Given the description of an element on the screen output the (x, y) to click on. 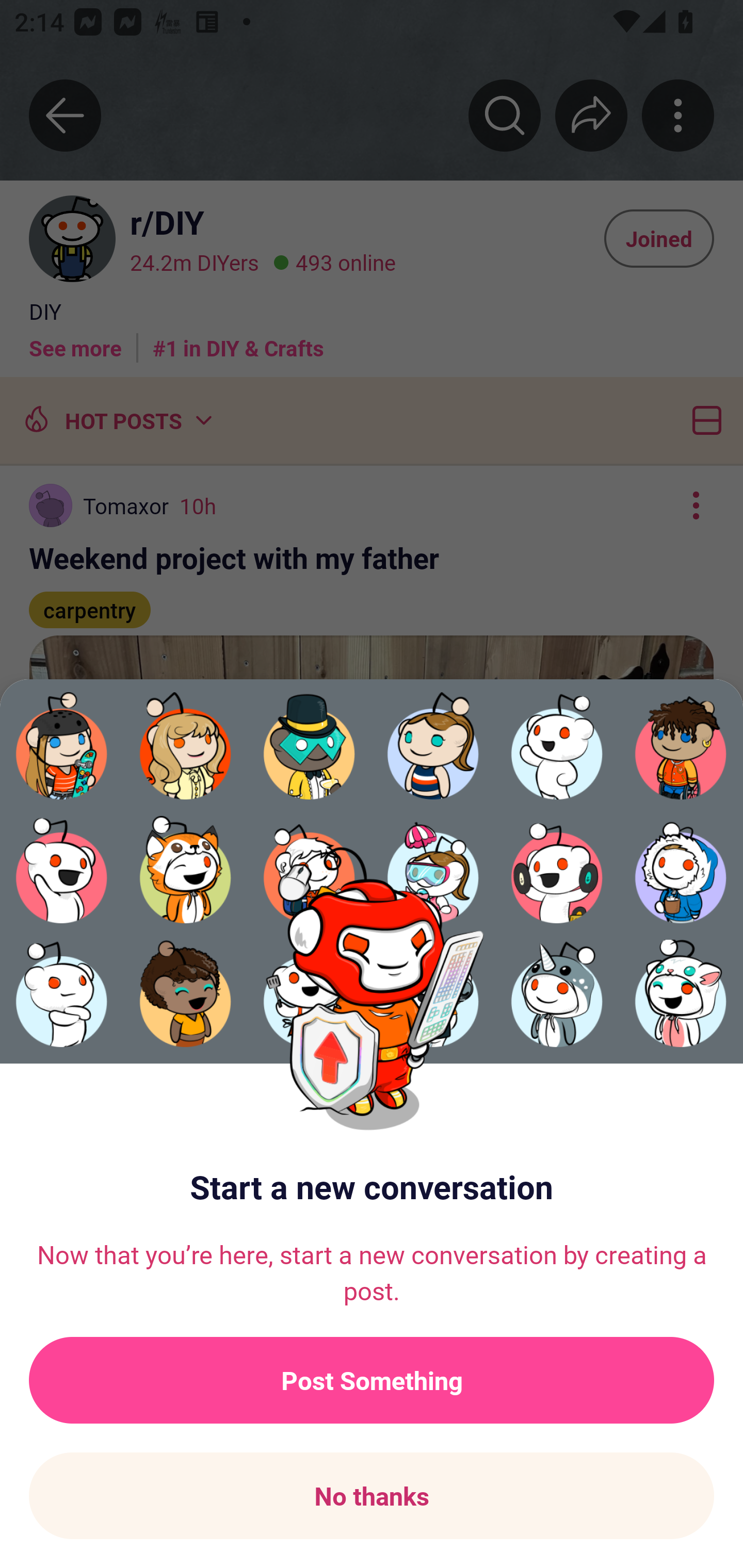
Post Something (371, 1380)
No thanks (371, 1495)
